Given the description of an element on the screen output the (x, y) to click on. 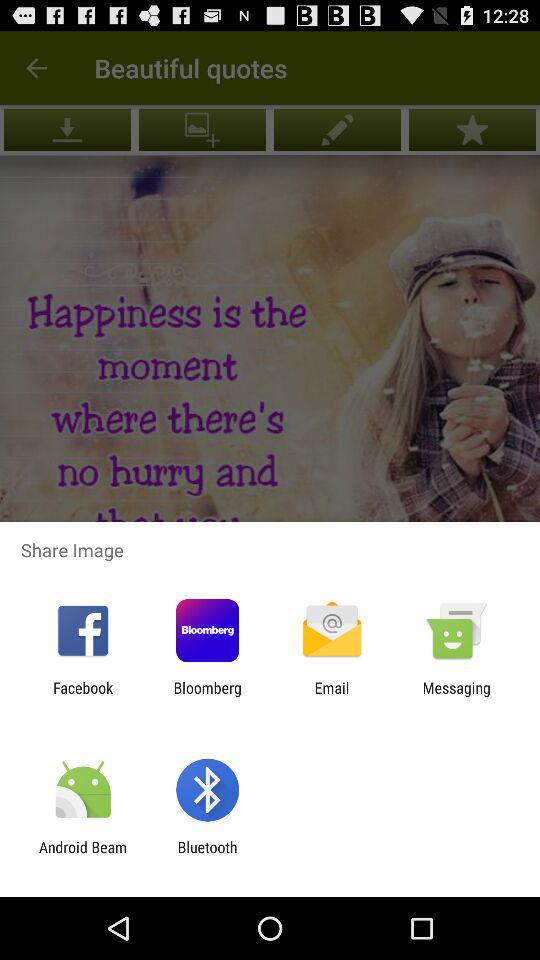
swipe until the bluetooth icon (207, 856)
